Given the description of an element on the screen output the (x, y) to click on. 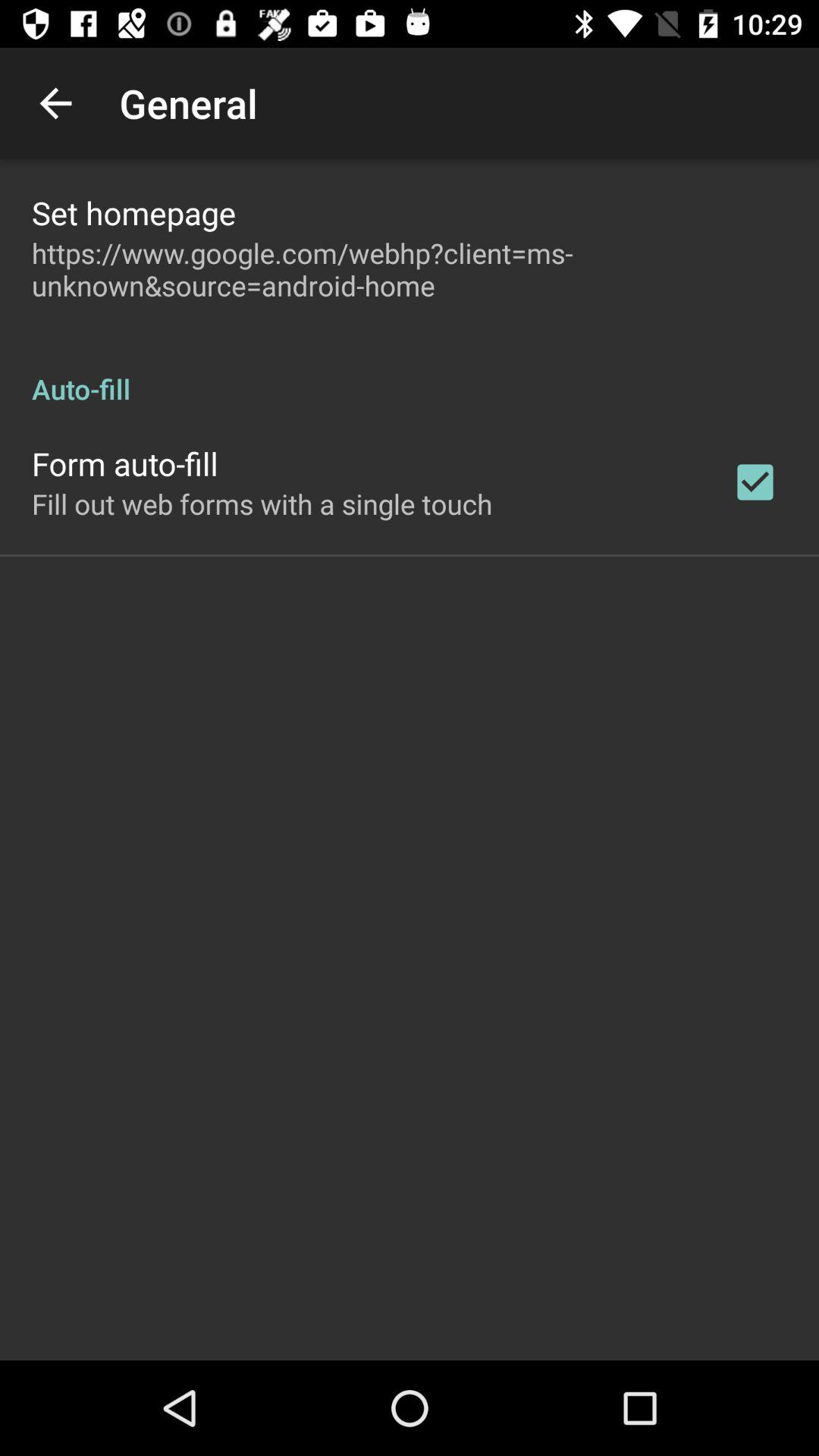
click the item next to the general (55, 103)
